Given the description of an element on the screen output the (x, y) to click on. 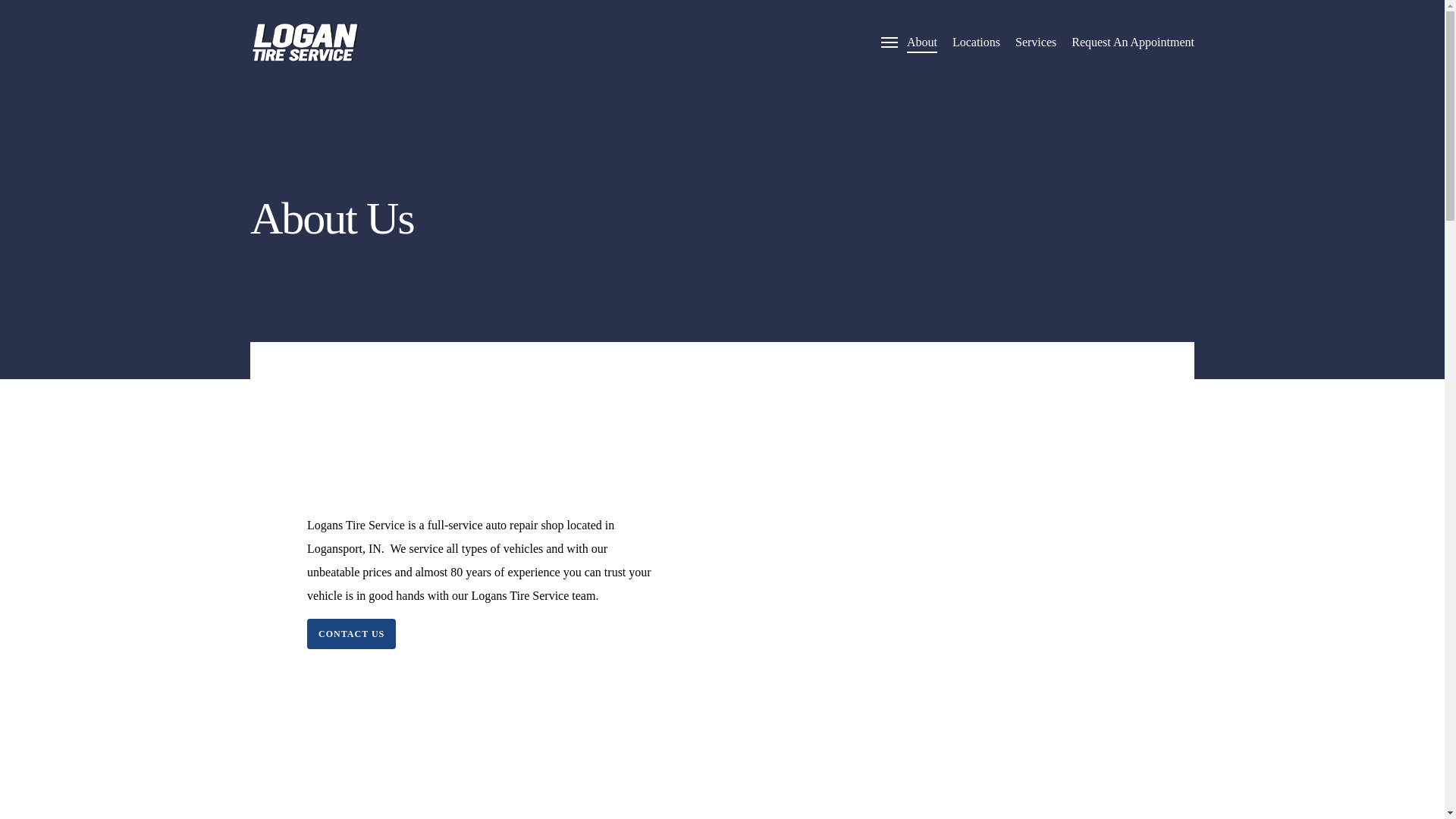
Request An Appointment (1132, 42)
CONTACT US (351, 634)
Locations (976, 42)
About (922, 42)
Services (1035, 42)
